Given the description of an element on the screen output the (x, y) to click on. 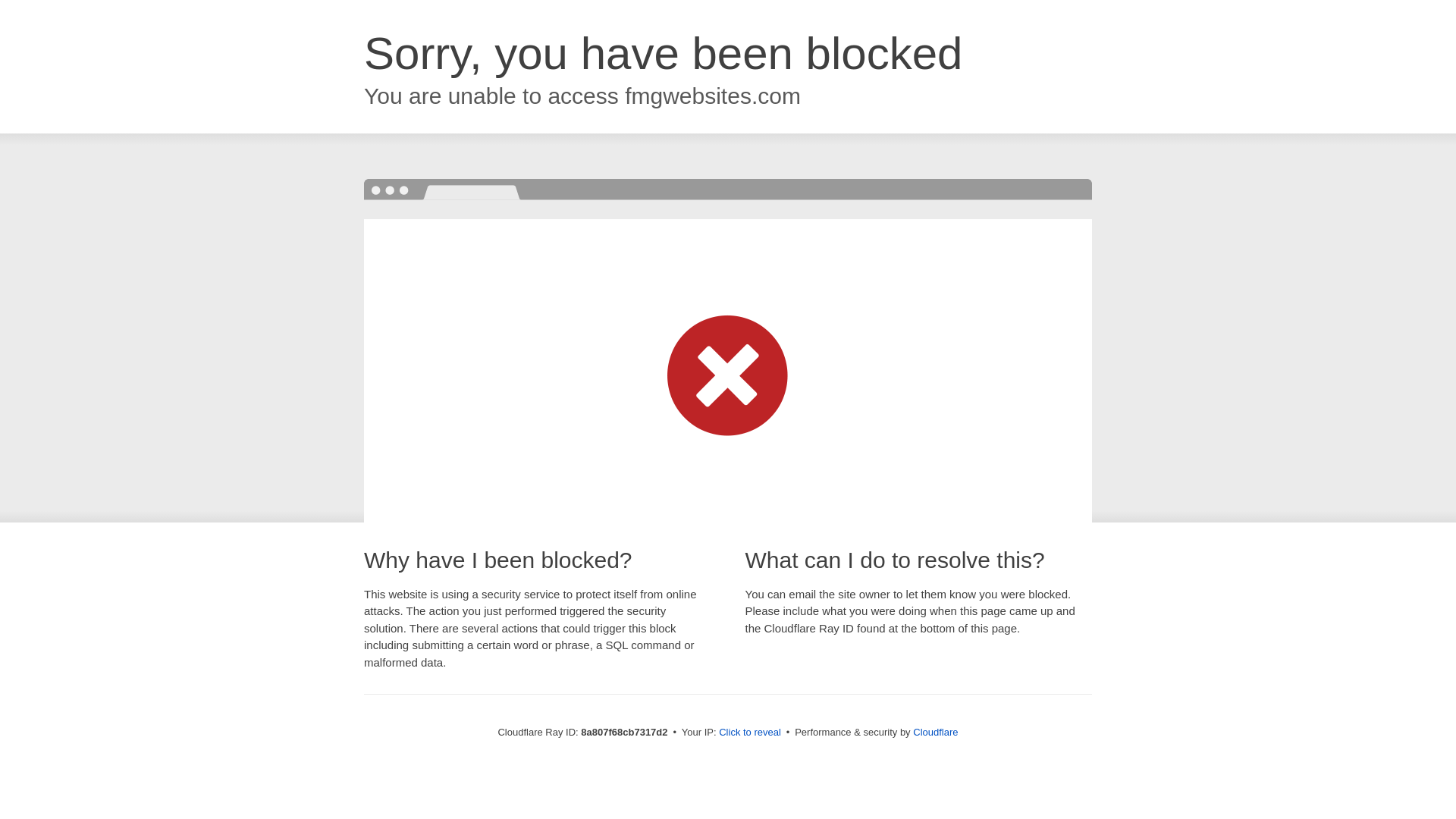
Click to reveal (749, 732)
Cloudflare (935, 731)
